Given the description of an element on the screen output the (x, y) to click on. 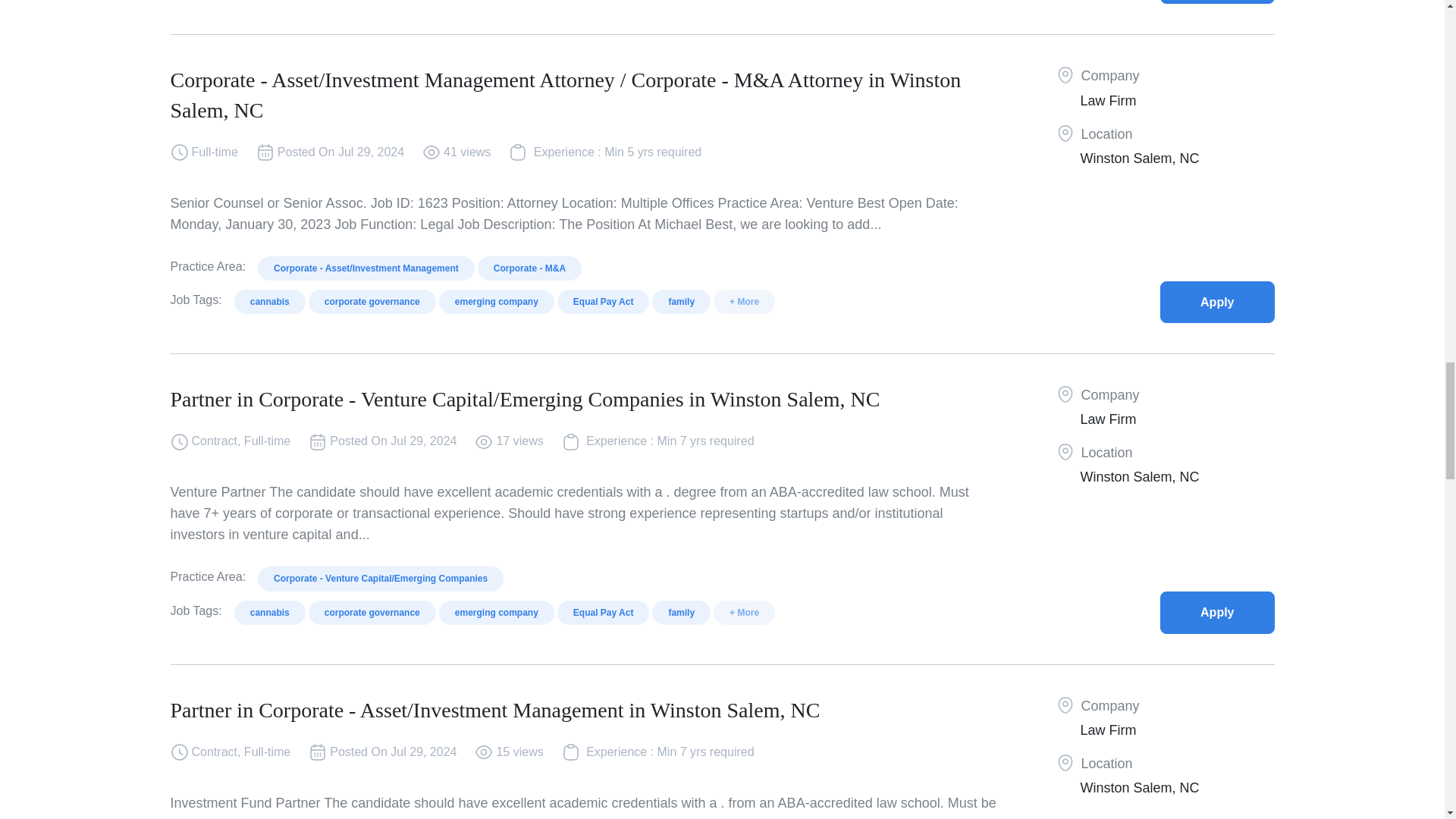
Social Security Law Attorney in Winston Salem, NC (1217, 2)
